Given the description of an element on the screen output the (x, y) to click on. 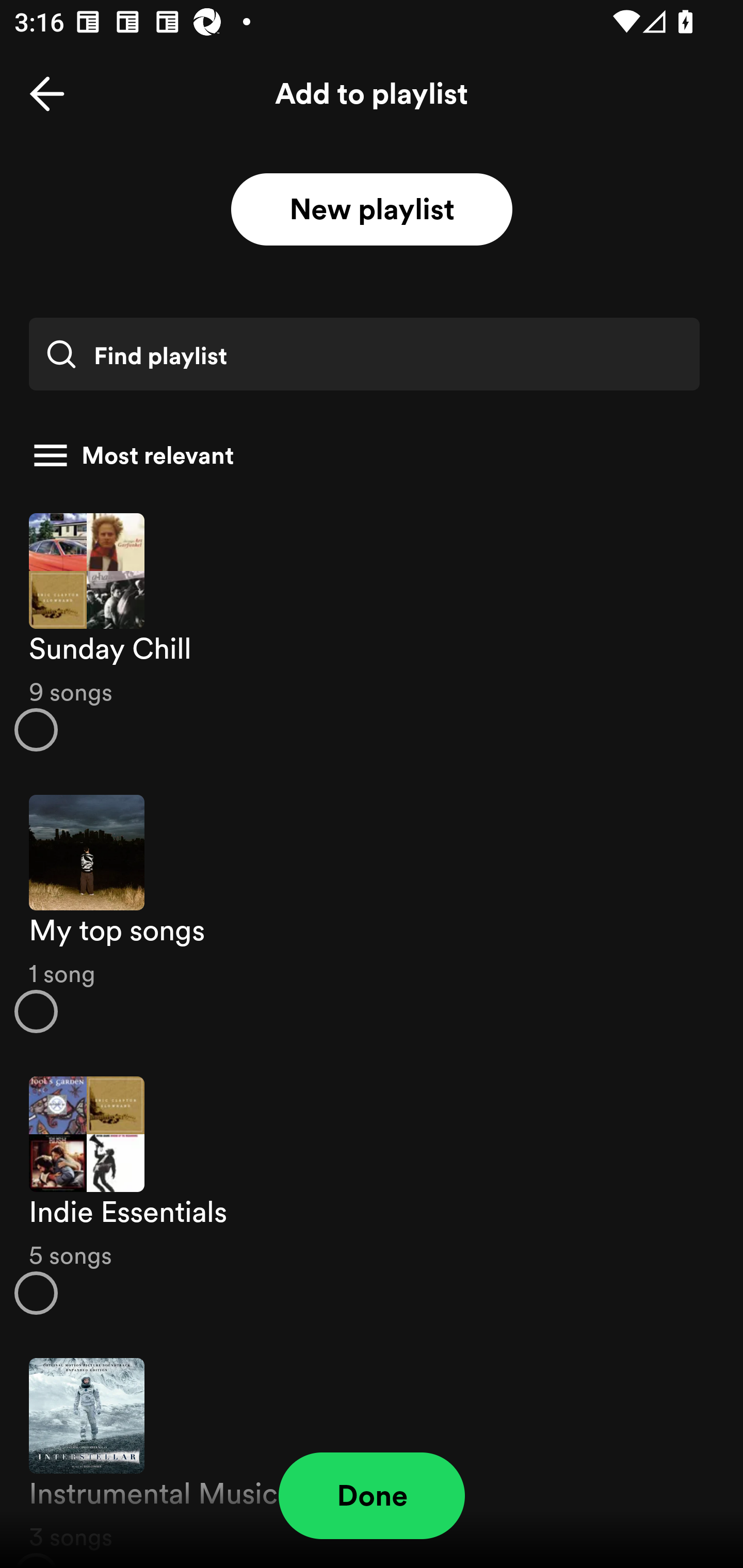
Back (46, 93)
New playlist (371, 210)
Find playlist (363, 354)
Most relevant (363, 455)
Sunday Chill 9 songs (371, 631)
My top songs 1 song (371, 914)
Indie Essentials 5 songs (371, 1195)
Instrumental Music 3 songs (371, 1451)
Done (371, 1495)
